Given the description of an element on the screen output the (x, y) to click on. 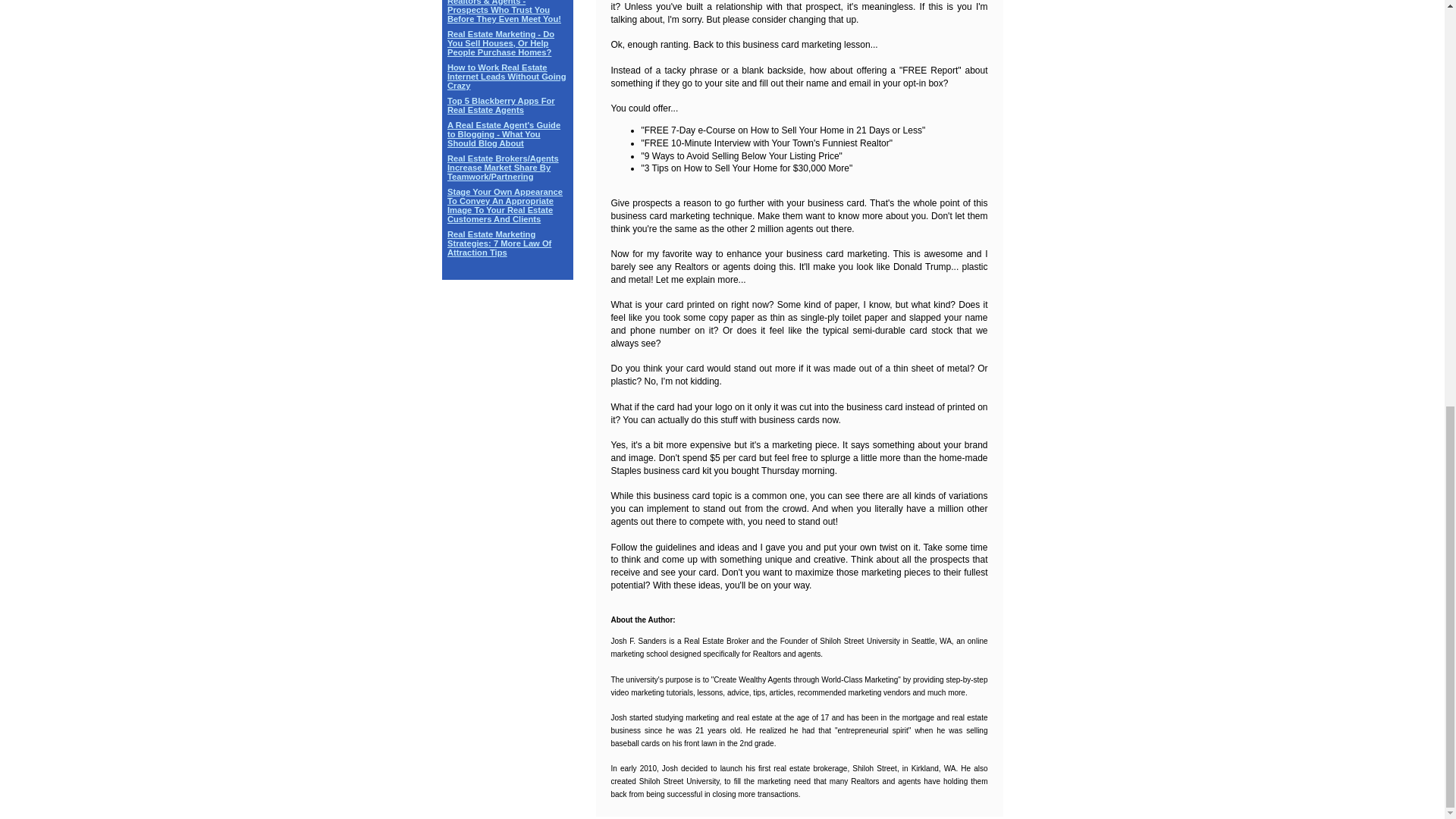
Top 5 Blackberry Apps For Real Estate Agents (500, 105)
How to Work Real Estate Internet Leads Without Going Crazy (506, 76)
